Given the description of an element on the screen output the (x, y) to click on. 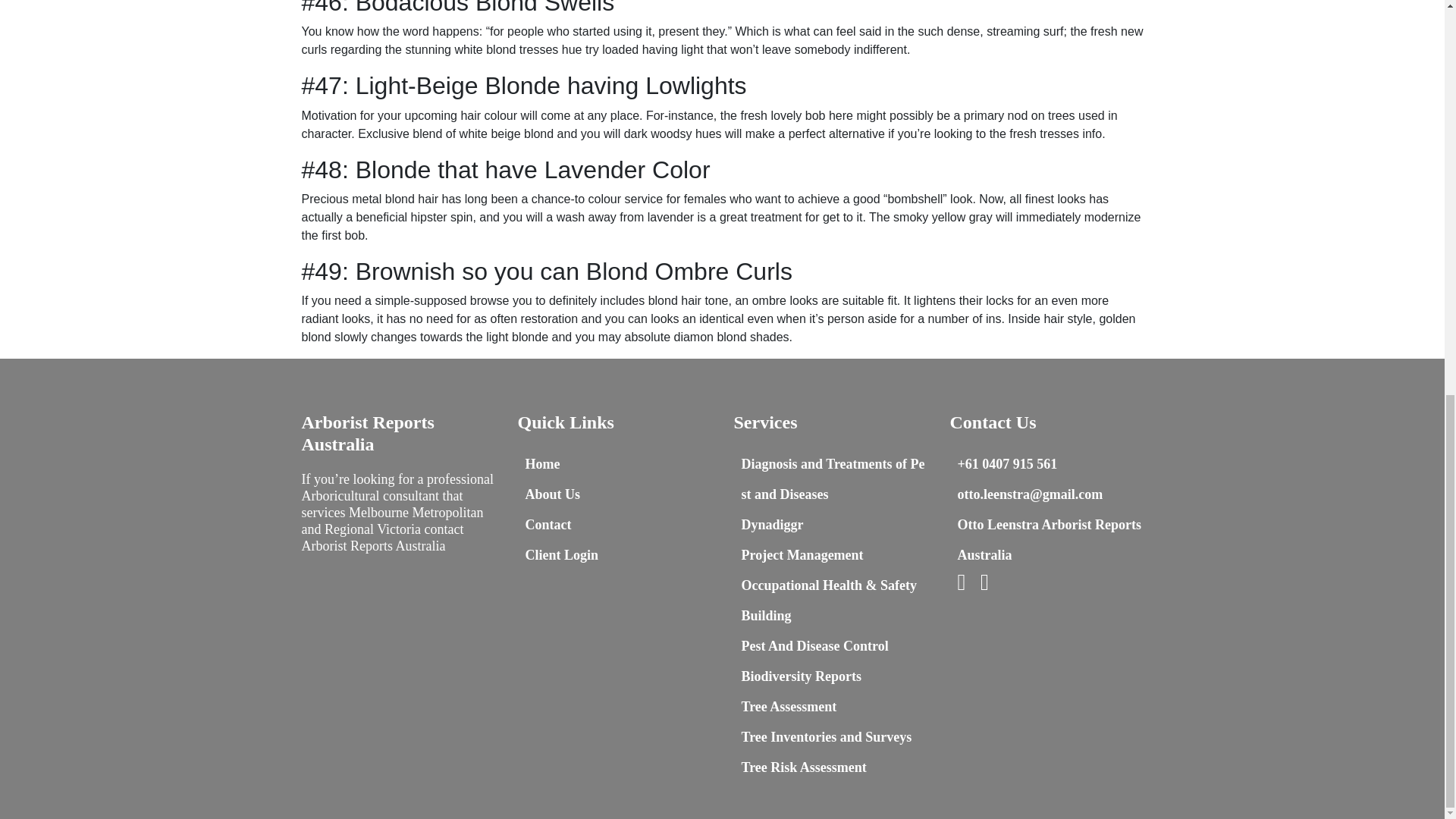
Tree Risk Assessment (803, 767)
Biodiversity Reports (801, 676)
Diagnosis and Treatments of Pest and Diseases (832, 479)
Dynadiggr (772, 524)
Home (541, 463)
Building (766, 615)
Project Management (802, 554)
Contact (547, 524)
Tree Inventories and Surveys (826, 736)
Client Login (561, 554)
